Given the description of an element on the screen output the (x, y) to click on. 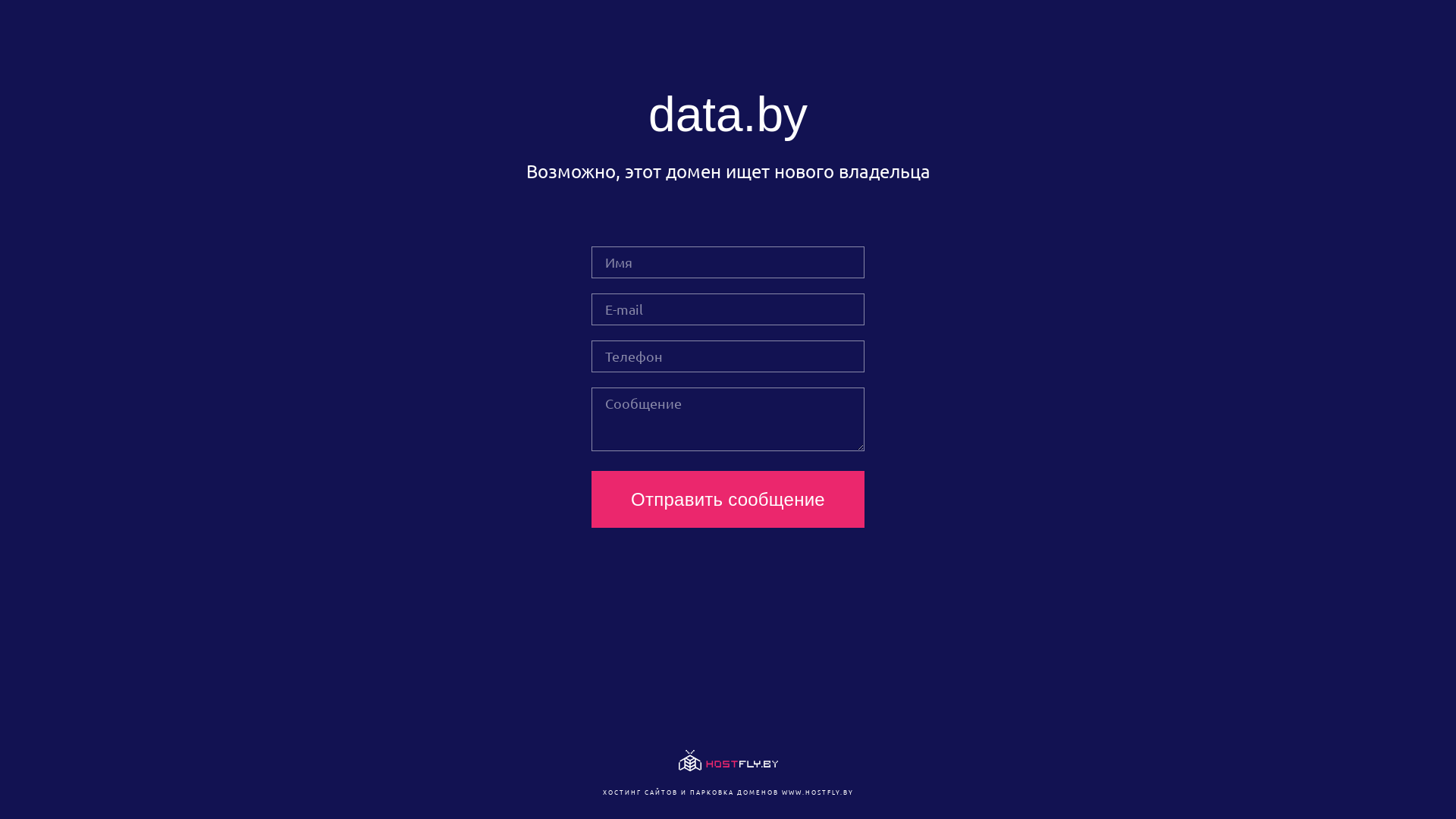
WWW.HOSTFLY.BY Element type: text (817, 791)
